Given the description of an element on the screen output the (x, y) to click on. 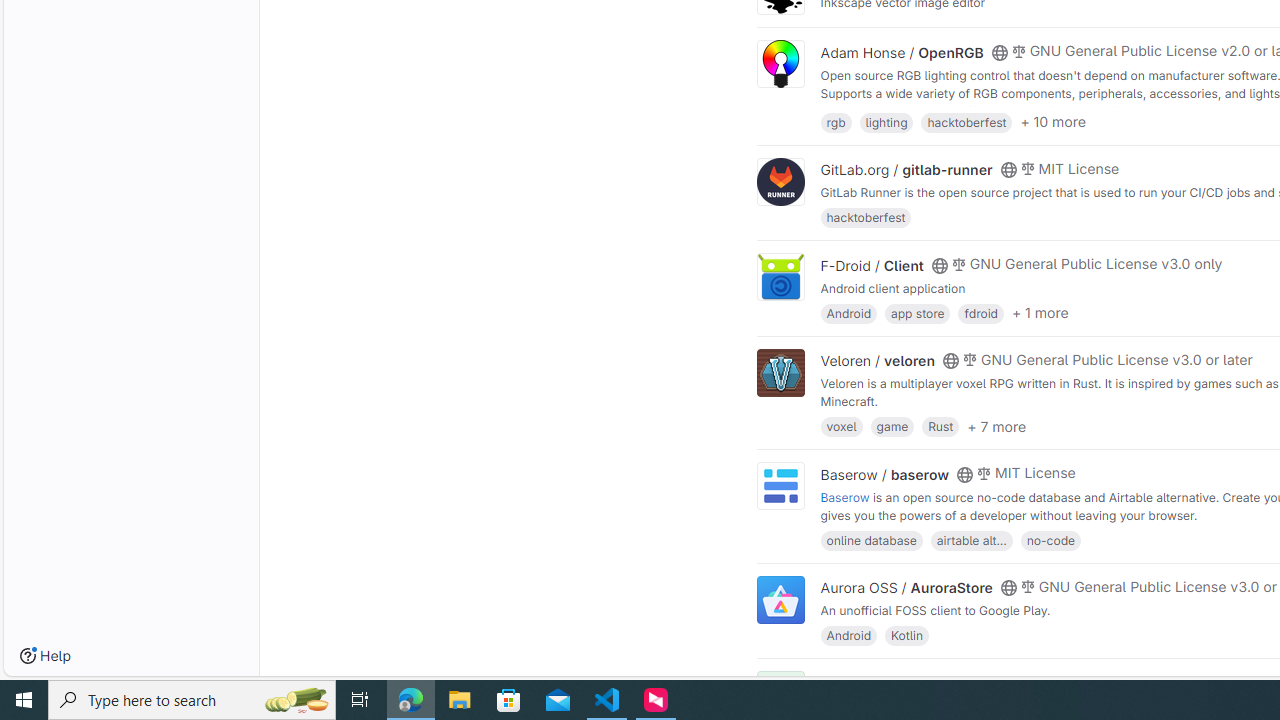
Rust (940, 426)
Android (848, 634)
no-code (1050, 539)
Start (24, 699)
app store (917, 312)
voxel (841, 426)
Task View (359, 699)
Type here to search (191, 699)
hacktoberfest (866, 217)
Baserow / baserow (884, 474)
F-Droid / Client (872, 265)
Edouard Klein / falsisign (902, 682)
Microsoft Edge - 1 running window (411, 699)
